Given the description of an element on the screen output the (x, y) to click on. 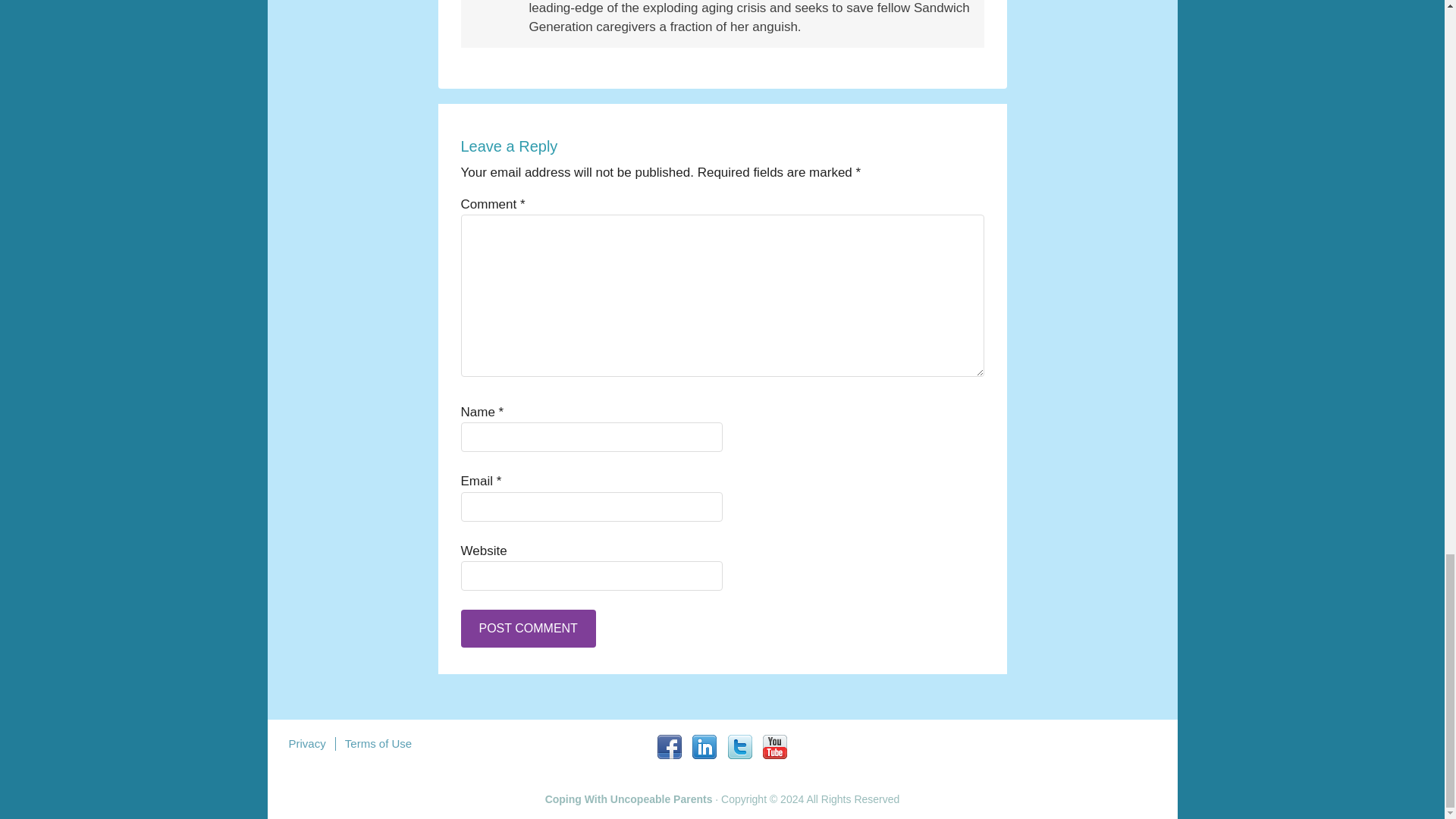
Youtube (774, 746)
Privacy (306, 743)
Post Comment (528, 628)
Terms of Use (378, 743)
Facebook (669, 746)
Post Comment (528, 628)
Twitter (740, 746)
Linkedin (704, 746)
